Given the description of an element on the screen output the (x, y) to click on. 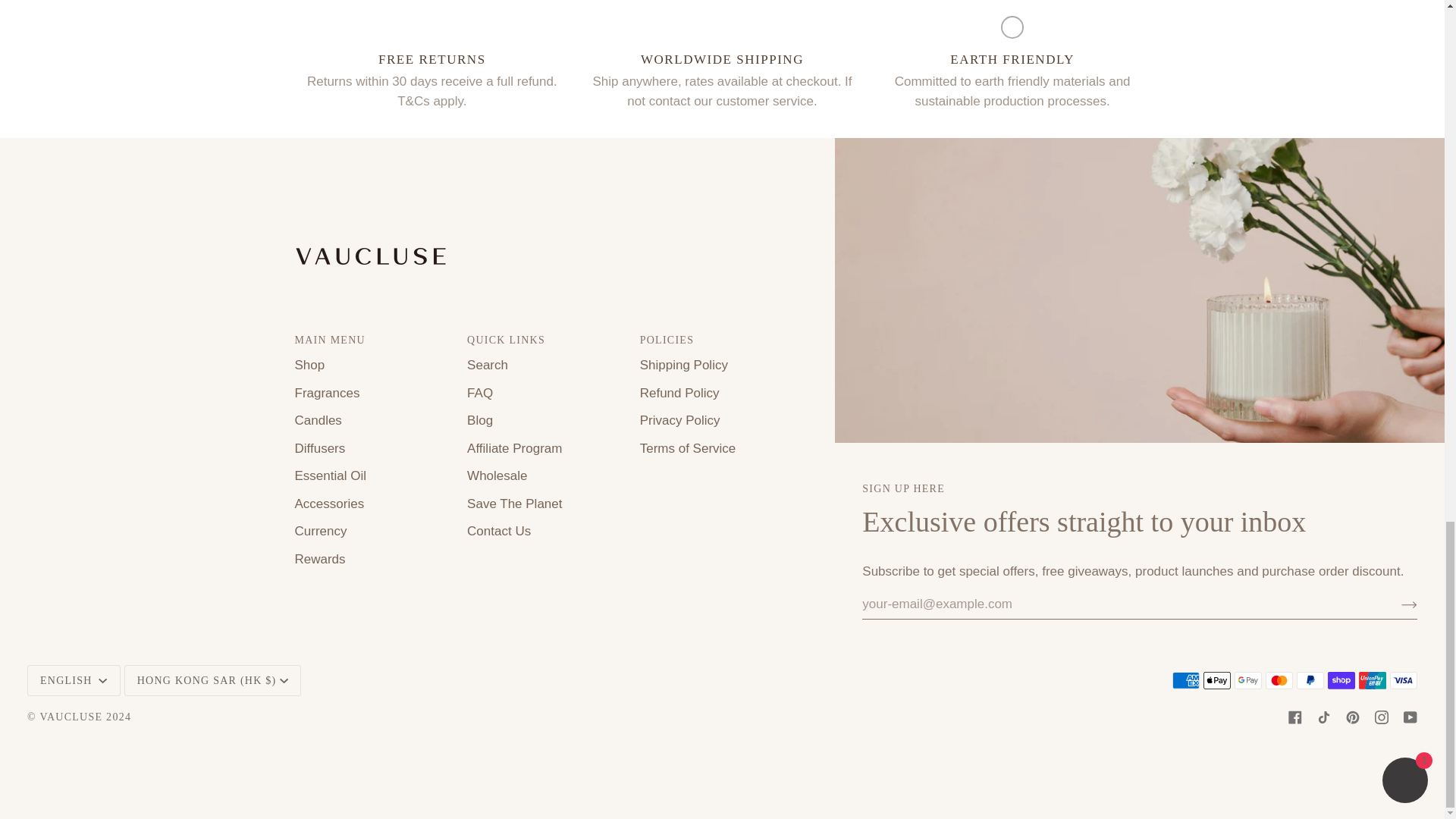
PAYPAL (1310, 679)
Pinterest (1352, 716)
GOOGLE PAY (1248, 679)
AMERICAN EXPRESS (1185, 679)
SHOP PAY (1341, 679)
Tiktok (1323, 716)
UNION PAY (1372, 679)
YouTube (1409, 716)
VISA (1403, 679)
Instagram (1381, 716)
Facebook (1294, 716)
MASTERCARD (1278, 679)
APPLE PAY (1217, 679)
